Given the description of an element on the screen output the (x, y) to click on. 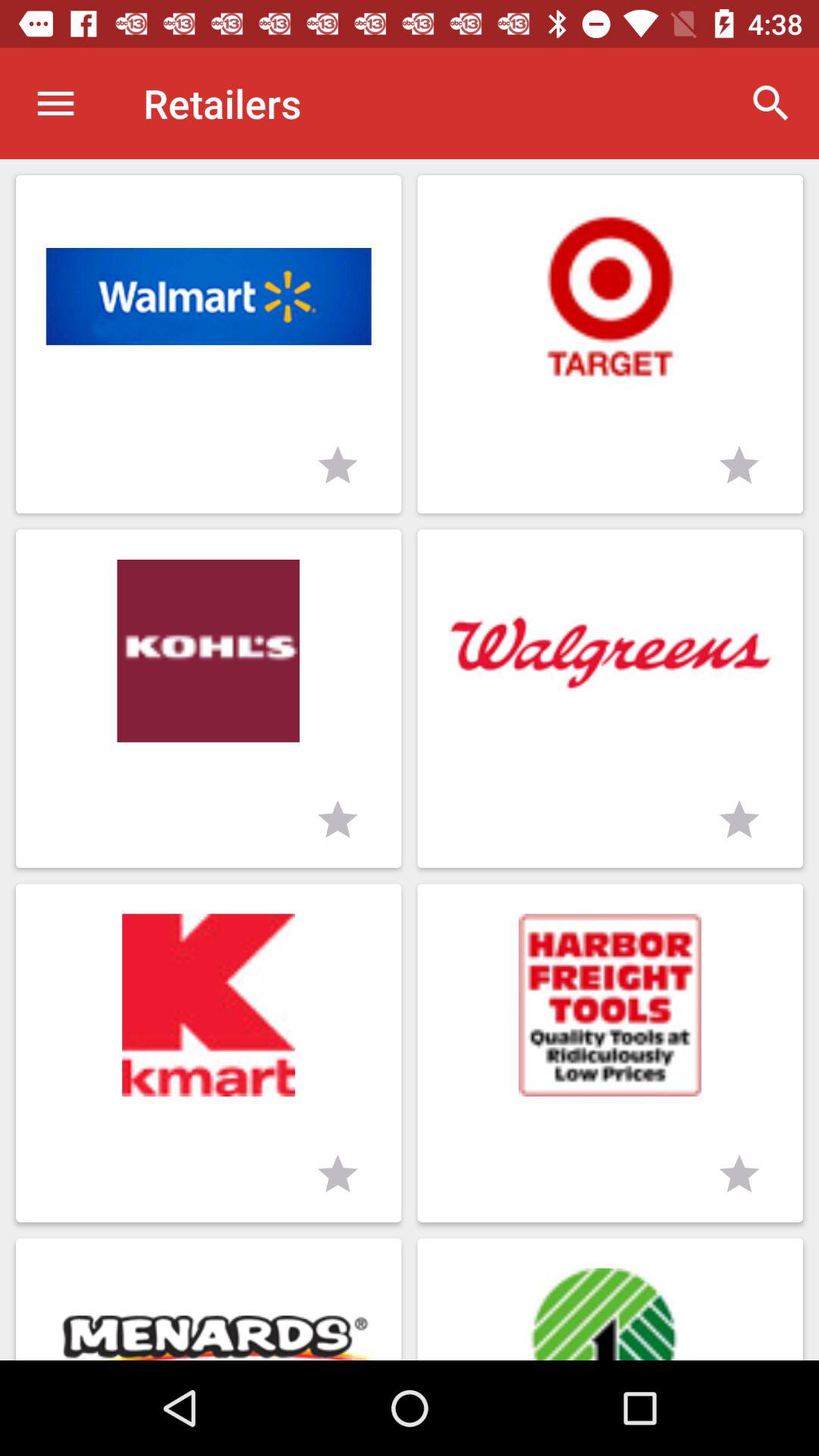
click option right to kohls (610, 698)
select secong image (610, 296)
select the third row second image (610, 1053)
select the option which is below kmart (208, 1299)
click on the fourth row of second image (610, 1299)
select the logo and text beside walmart (610, 343)
click on star in third row second image (739, 1174)
click on walgreens (610, 650)
click on logo kohls (208, 698)
